Given the description of an element on the screen output the (x, y) to click on. 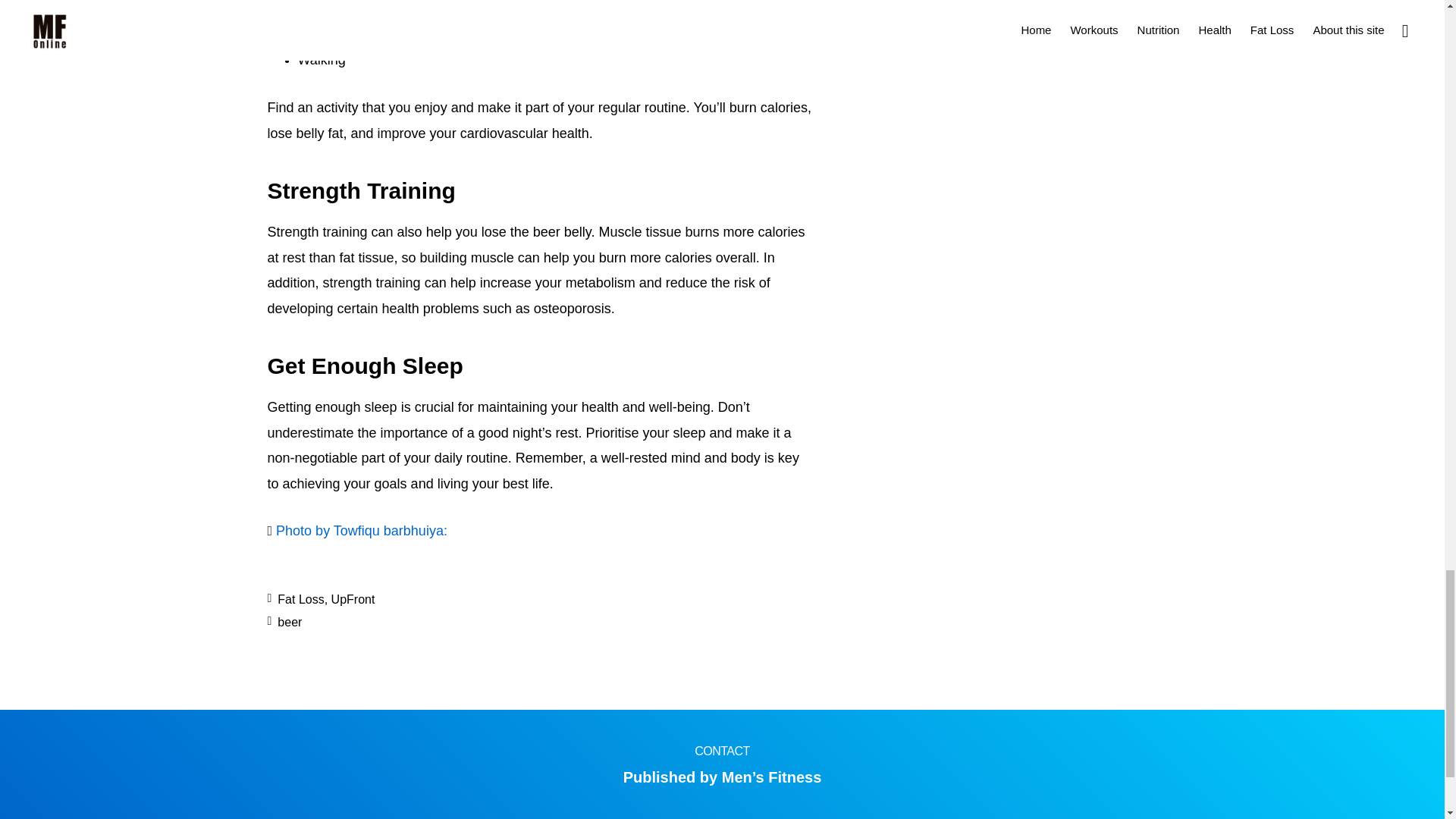
Photo by Towfiqu barbhuiya: (361, 530)
Fat Loss (300, 599)
beer (289, 621)
UpFront (353, 599)
